Given the description of an element on the screen output the (x, y) to click on. 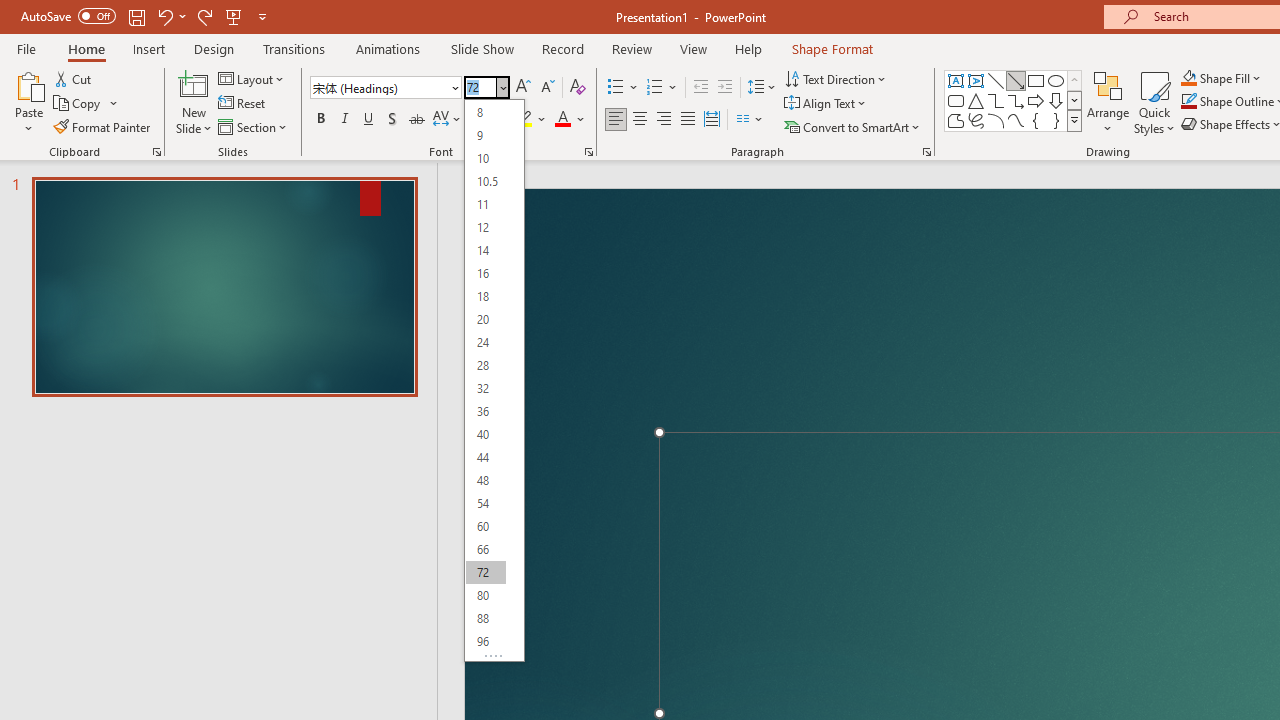
14 (485, 250)
12 (485, 227)
24 (485, 342)
80 (485, 594)
10.5 (485, 180)
